Given the description of an element on the screen output the (x, y) to click on. 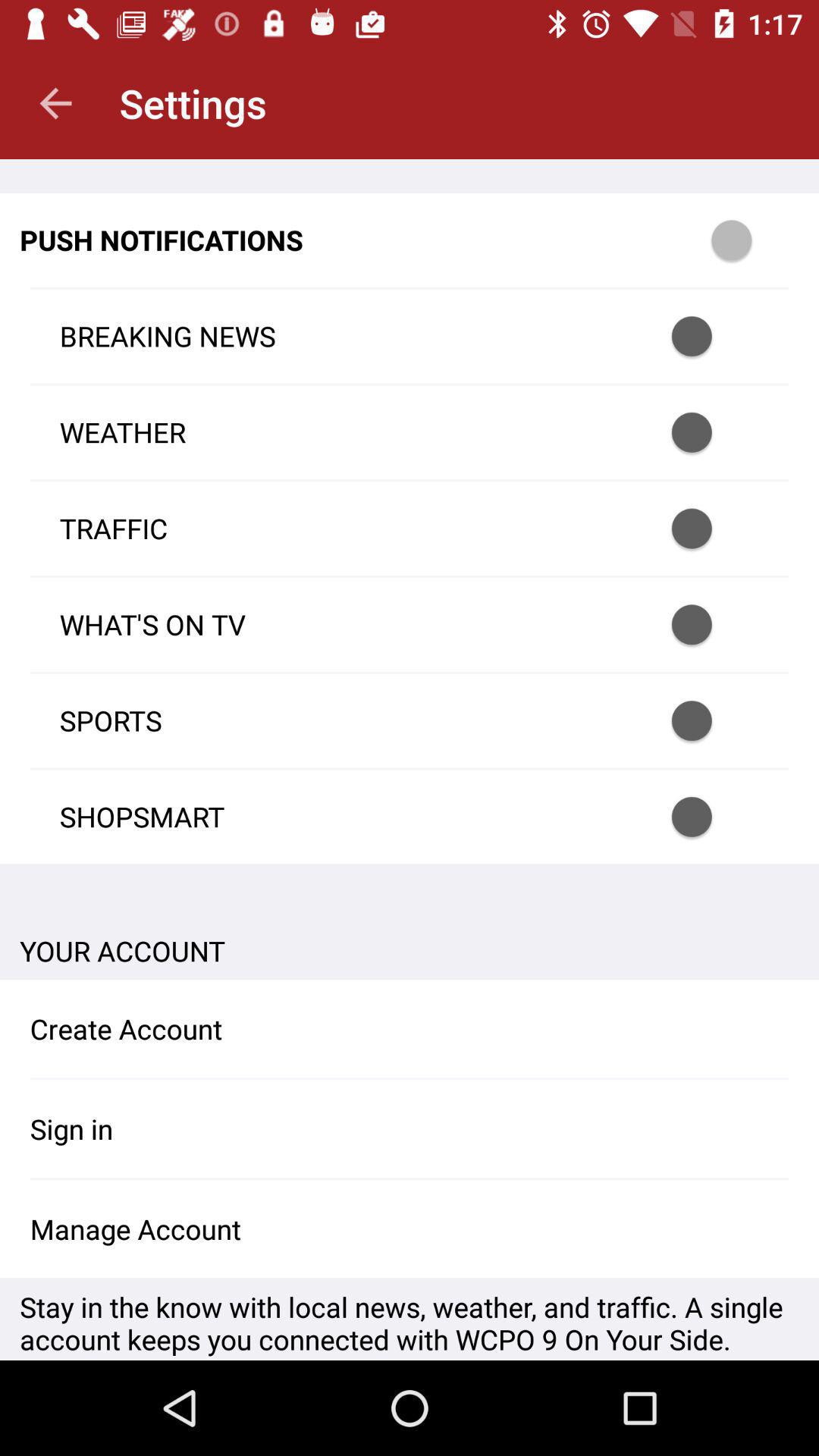
toggle push notifications (711, 528)
